Given the description of an element on the screen output the (x, y) to click on. 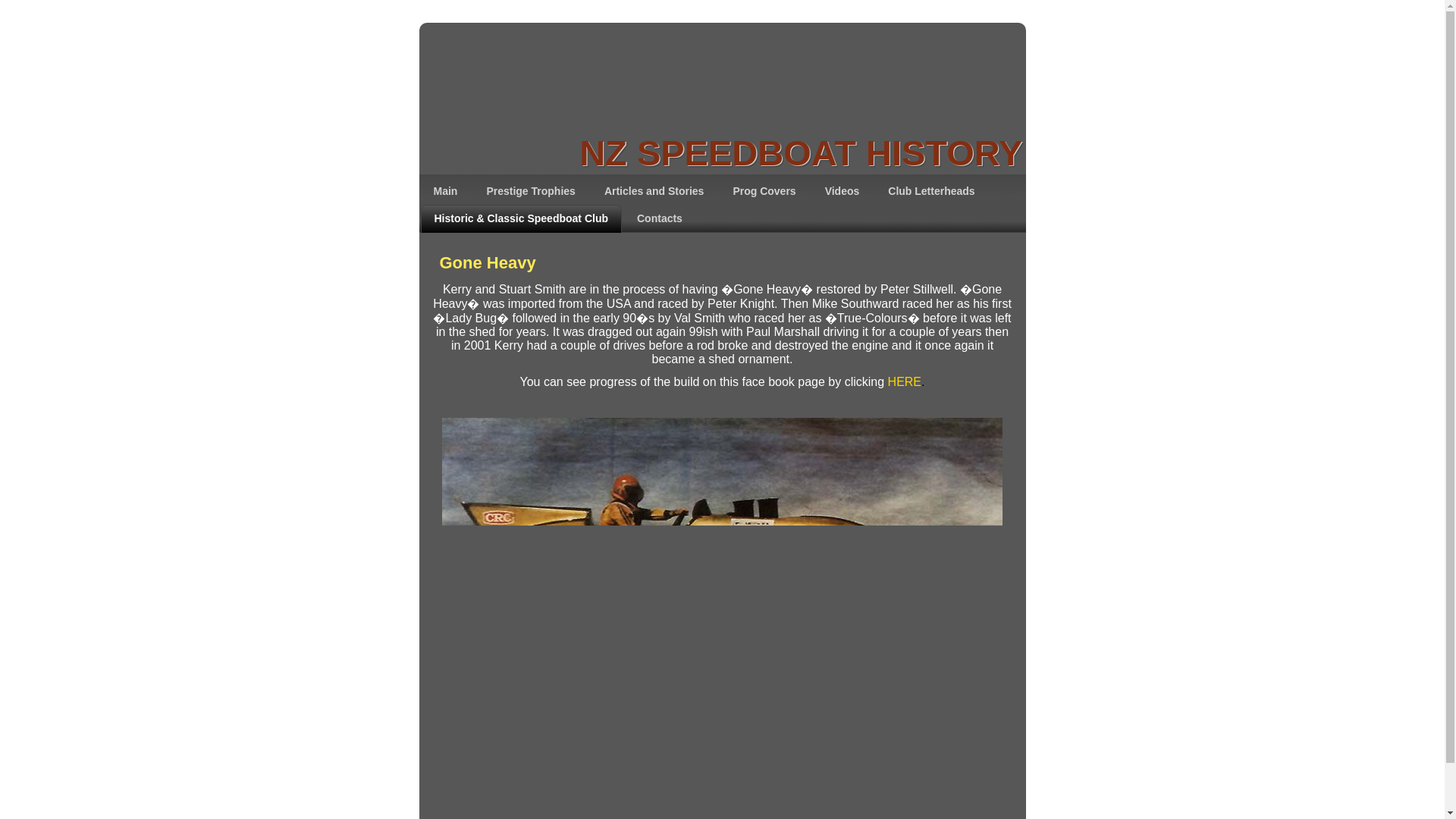
NZ SPEEDBOAT HISTORY (800, 152)
Articles and Stories (654, 190)
Main (445, 190)
Prestige Trophies (529, 190)
